Given the description of an element on the screen output the (x, y) to click on. 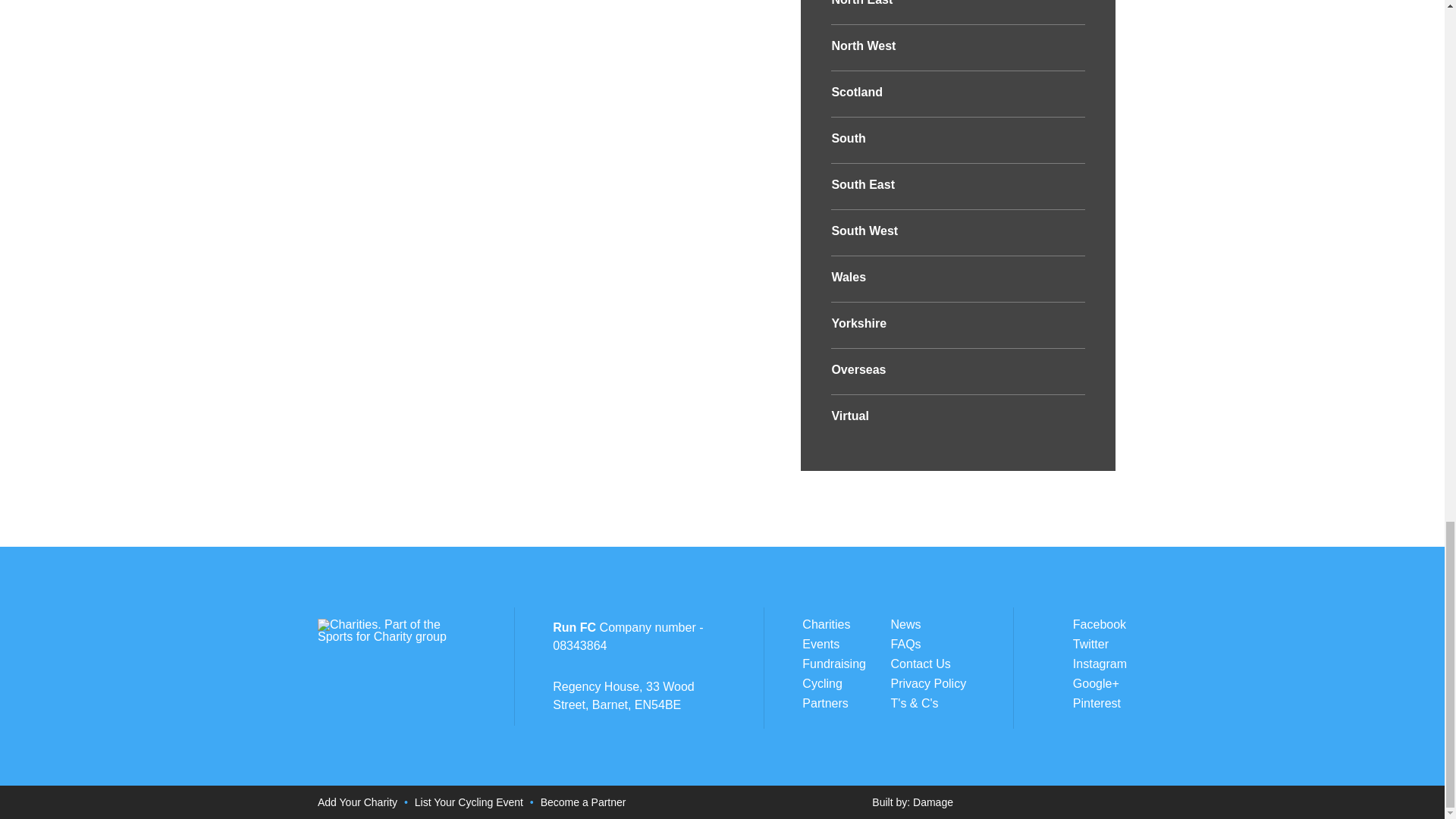
Web Design Retford (932, 802)
